Given the description of an element on the screen output the (x, y) to click on. 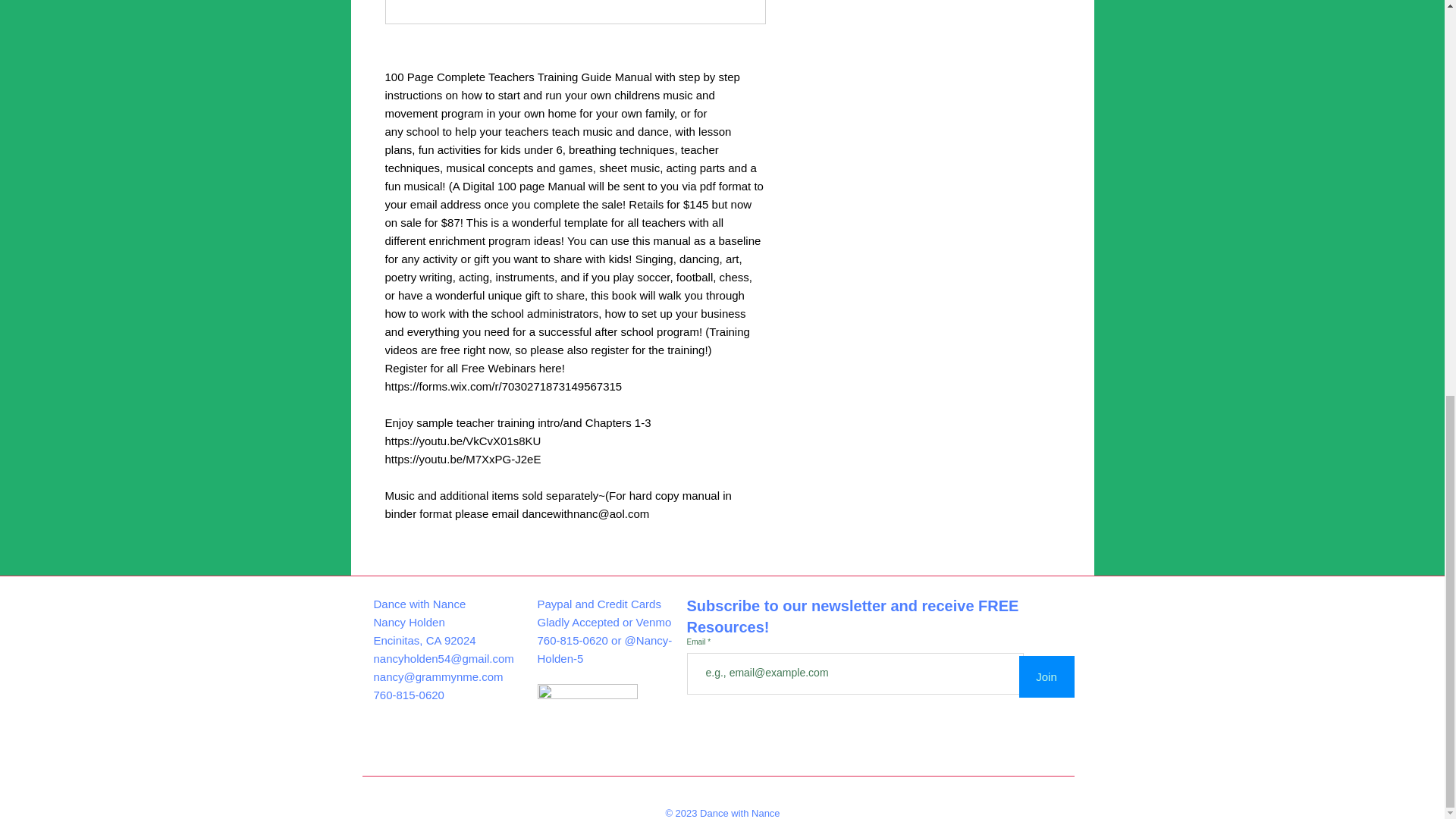
Join (1046, 676)
